Given the description of an element on the screen output the (x, y) to click on. 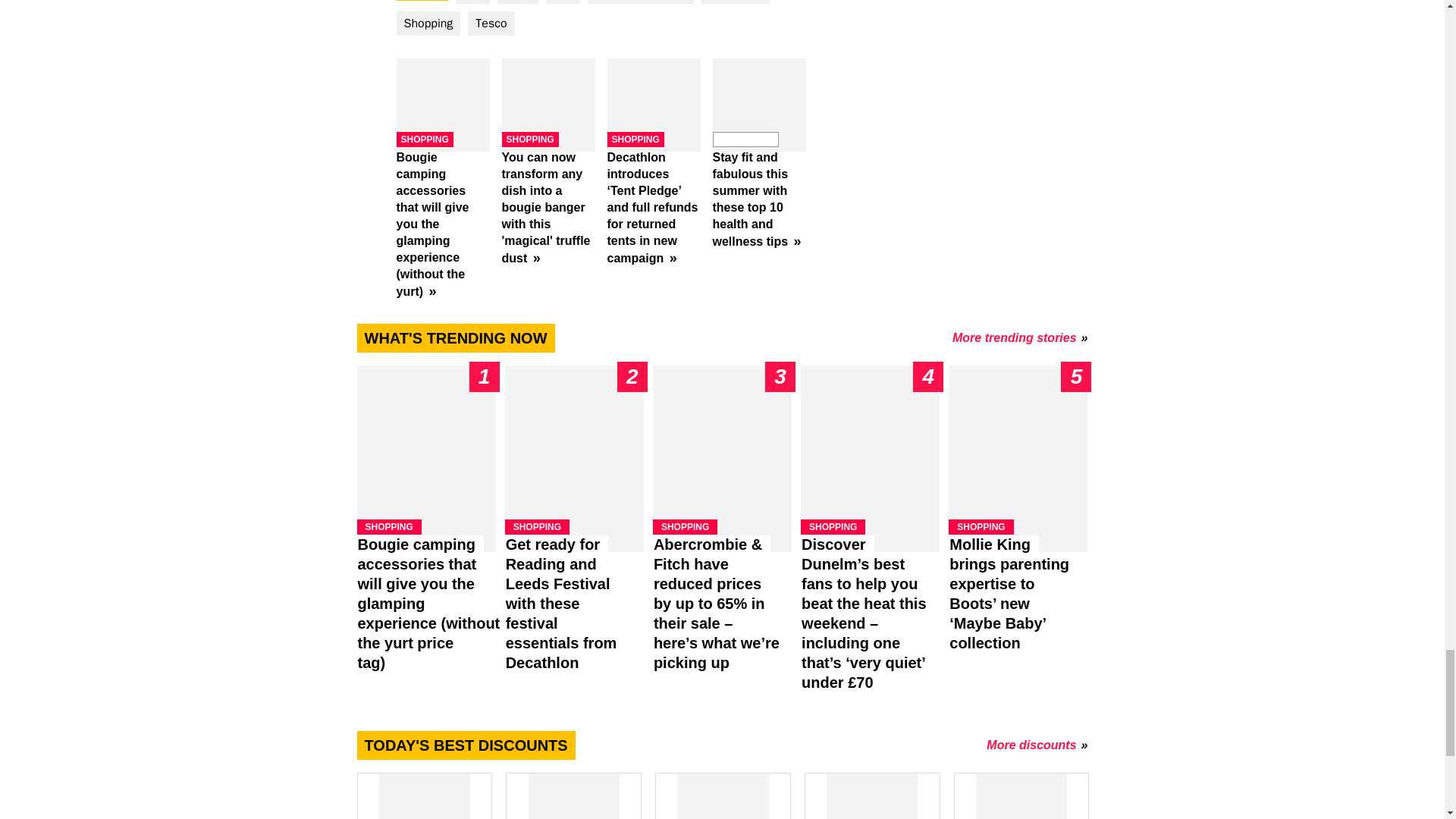
Debenhams (423, 796)
PrettyLittleThing (722, 796)
Wayfair (872, 796)
The Works (1020, 796)
